Given the description of an element on the screen output the (x, y) to click on. 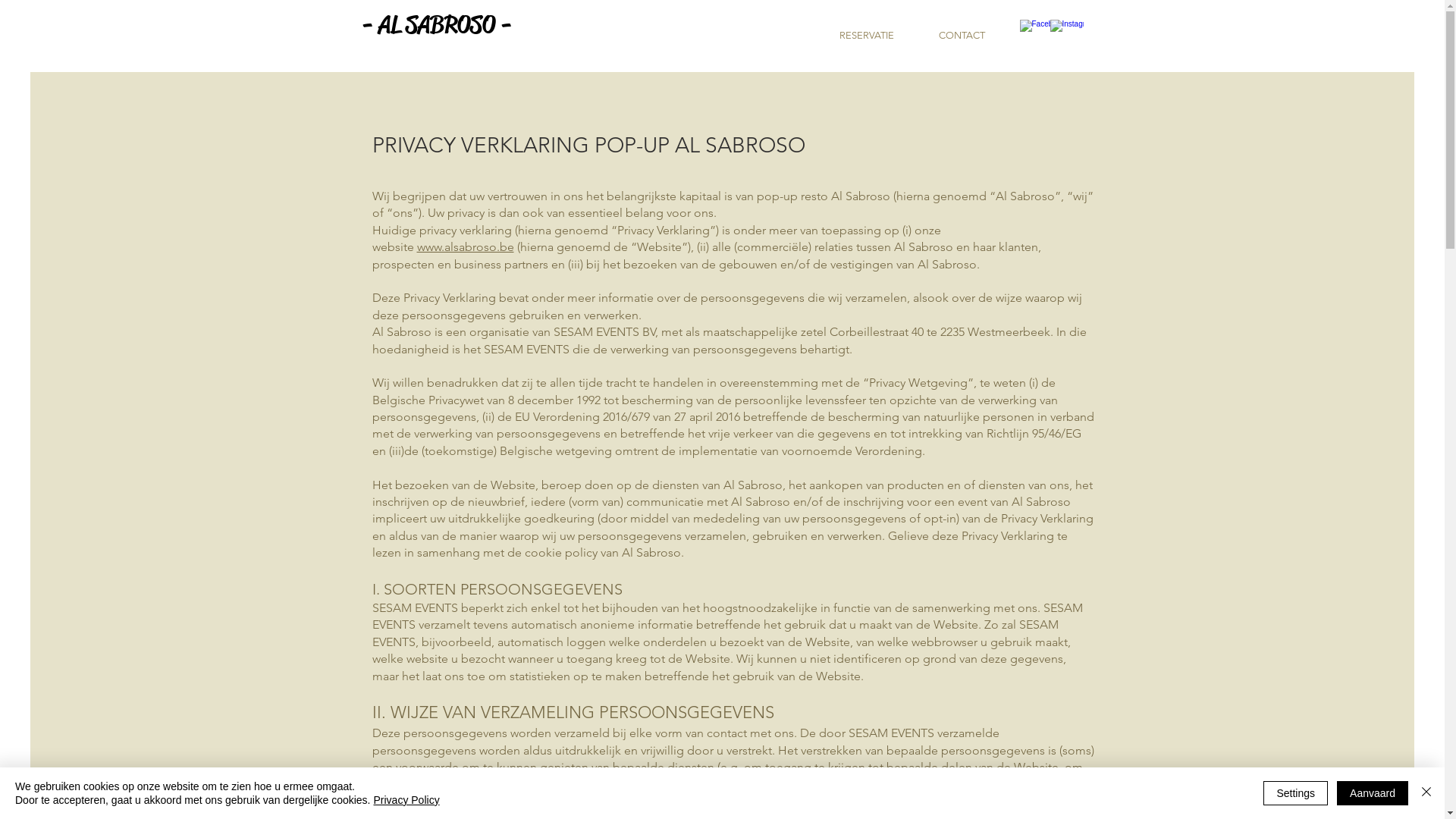
Privacy Policy Element type: text (406, 799)
RESERVATIE Element type: text (866, 35)
Settings Element type: text (1295, 793)
www.alsabroso.be Element type: text (465, 246)
Aanvaard Element type: text (1372, 793)
CONTACT Element type: text (961, 35)
